Given the description of an element on the screen output the (x, y) to click on. 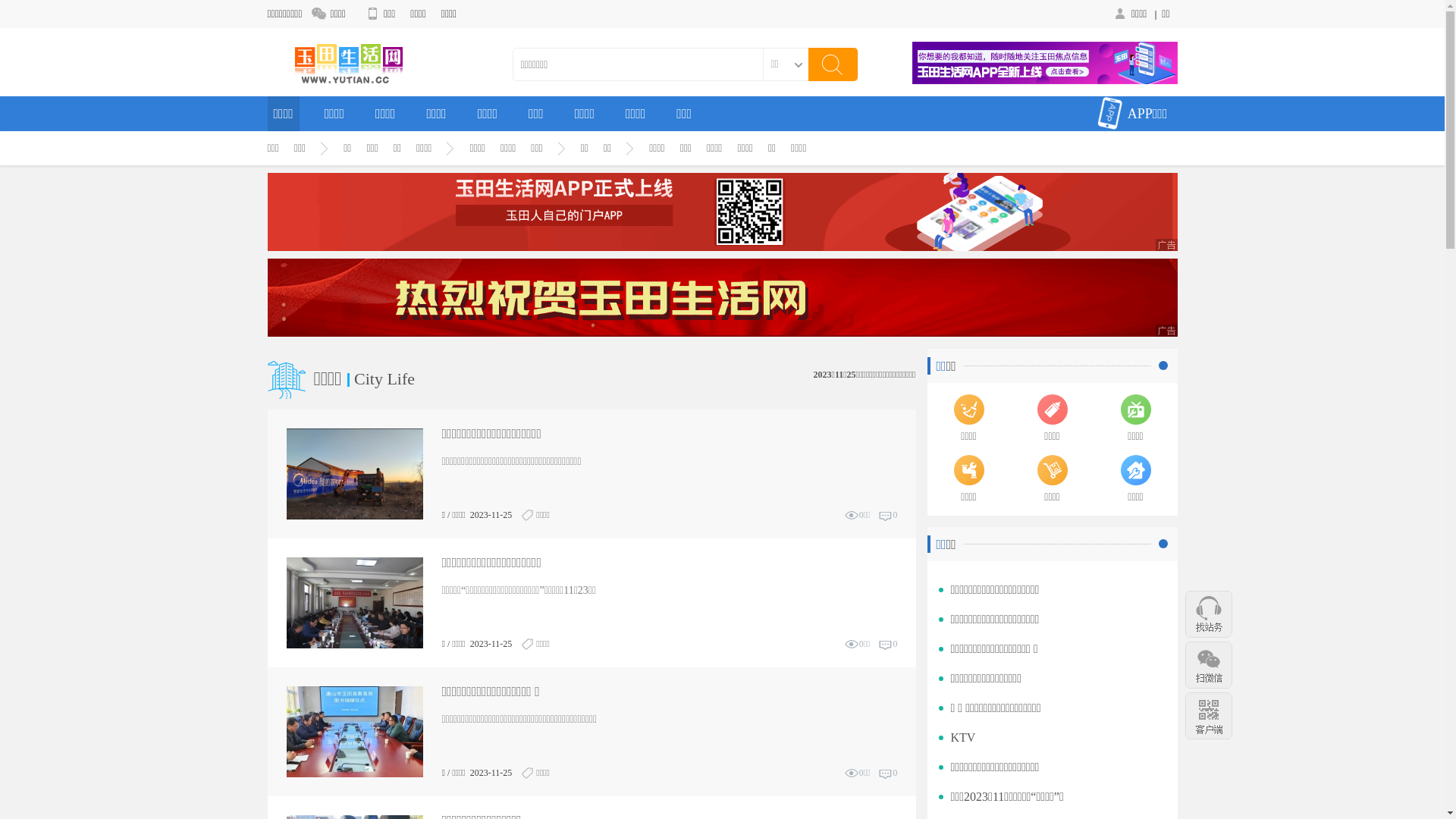
KTV Element type: text (962, 737)
